Given the description of an element on the screen output the (x, y) to click on. 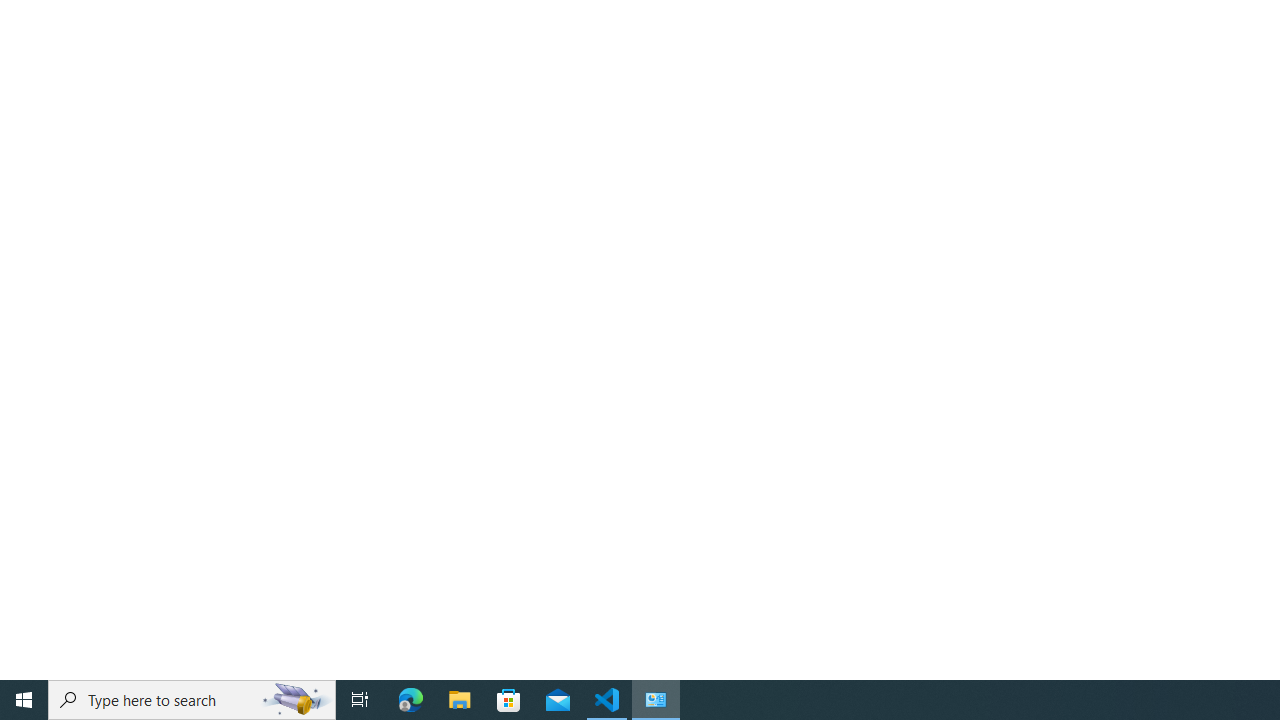
Control Panel - 1 running window (656, 699)
